Given the description of an element on the screen output the (x, y) to click on. 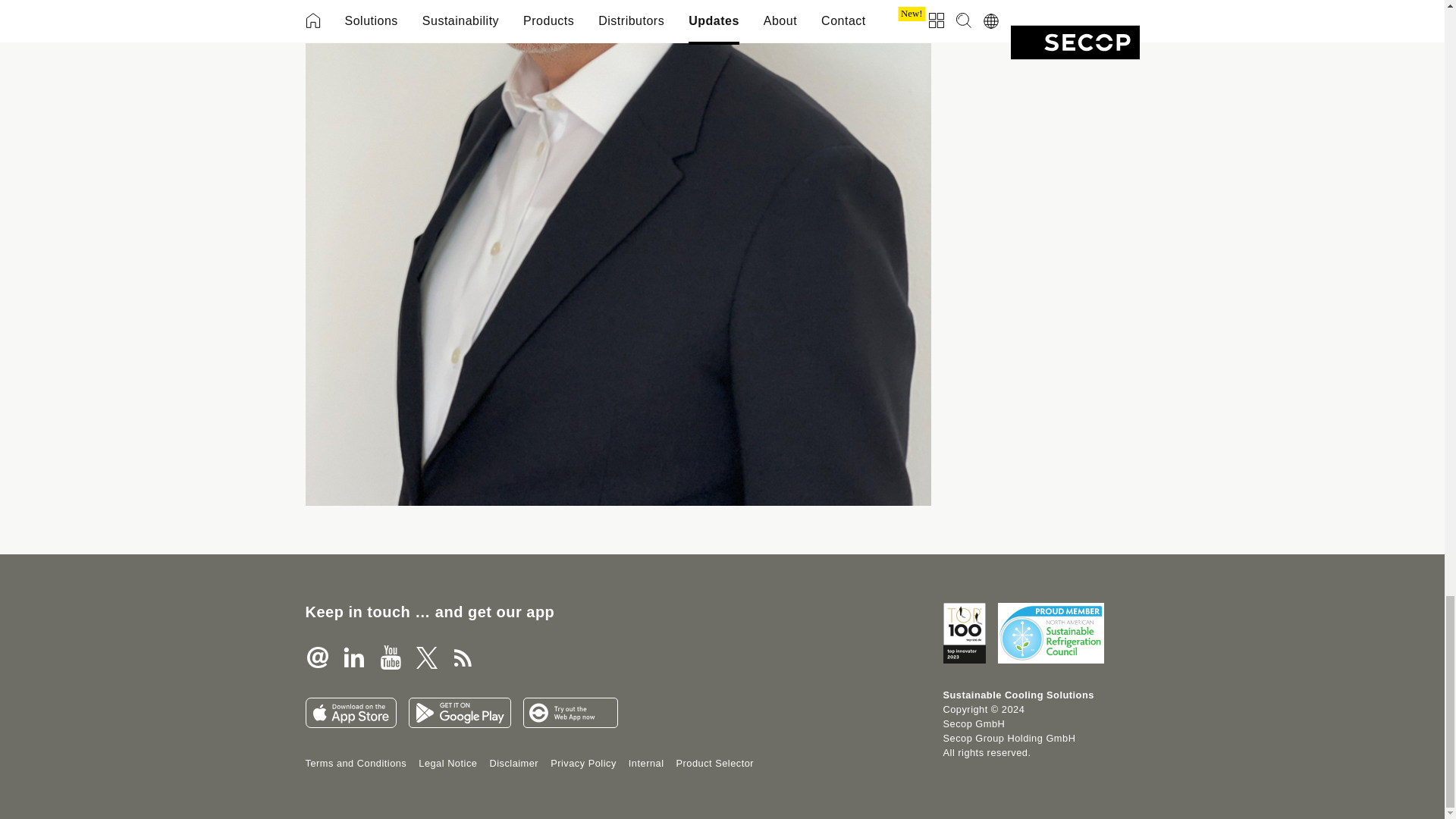
X (425, 657)
Secop Toolkit in Google Play Store (459, 712)
YouTube (389, 657)
RSS (461, 657)
Secop Toolkit Web App (569, 712)
Newsletter (316, 657)
LinkedIn (352, 657)
Secop Toolkit in Apple App Store (350, 712)
